Given the description of an element on the screen output the (x, y) to click on. 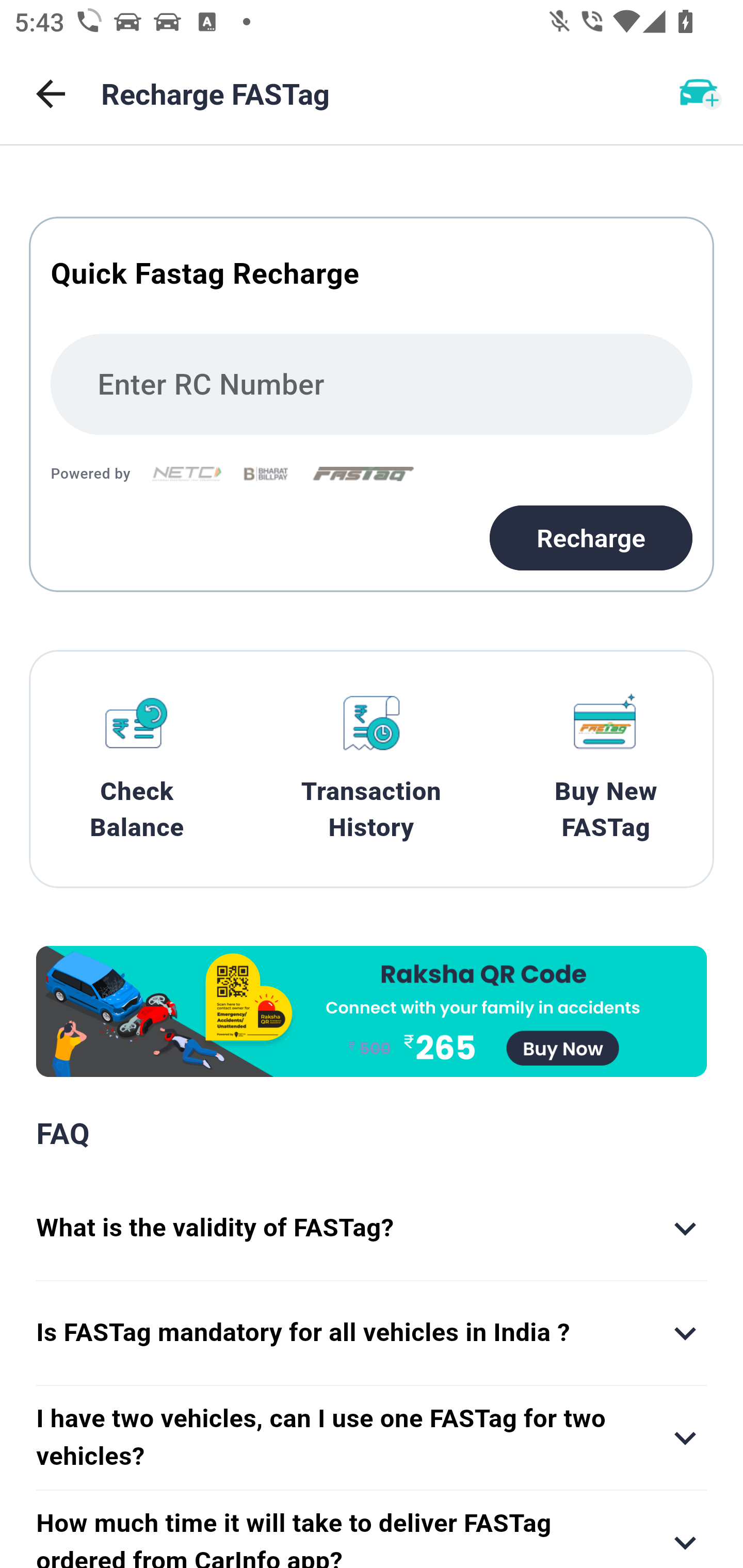
Back (50, 93)
Recharge (371, 404)
Recharge (590, 537)
Check
Balance (136, 768)
Transaction
History (371, 768)
Buy New
FASTag (605, 768)
What is the validity of FASTag? (371, 1228)
Is FASTag mandatory for all vehicles in India ? (371, 1333)
